Given the description of an element on the screen output the (x, y) to click on. 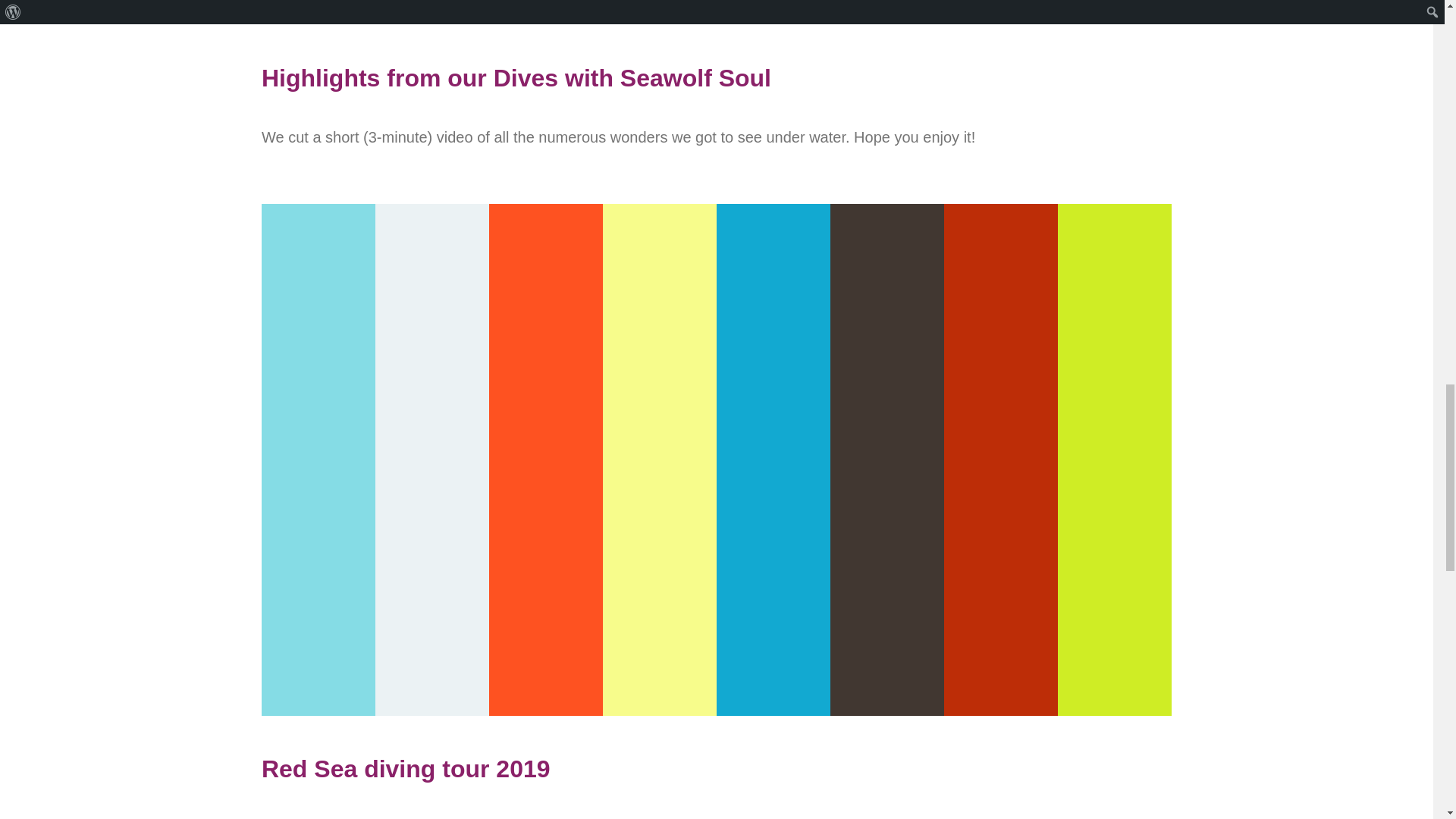
Egypt Diving 2017 Group (717, 12)
Red Sea diving tour 2019 (717, 767)
